Given the description of an element on the screen output the (x, y) to click on. 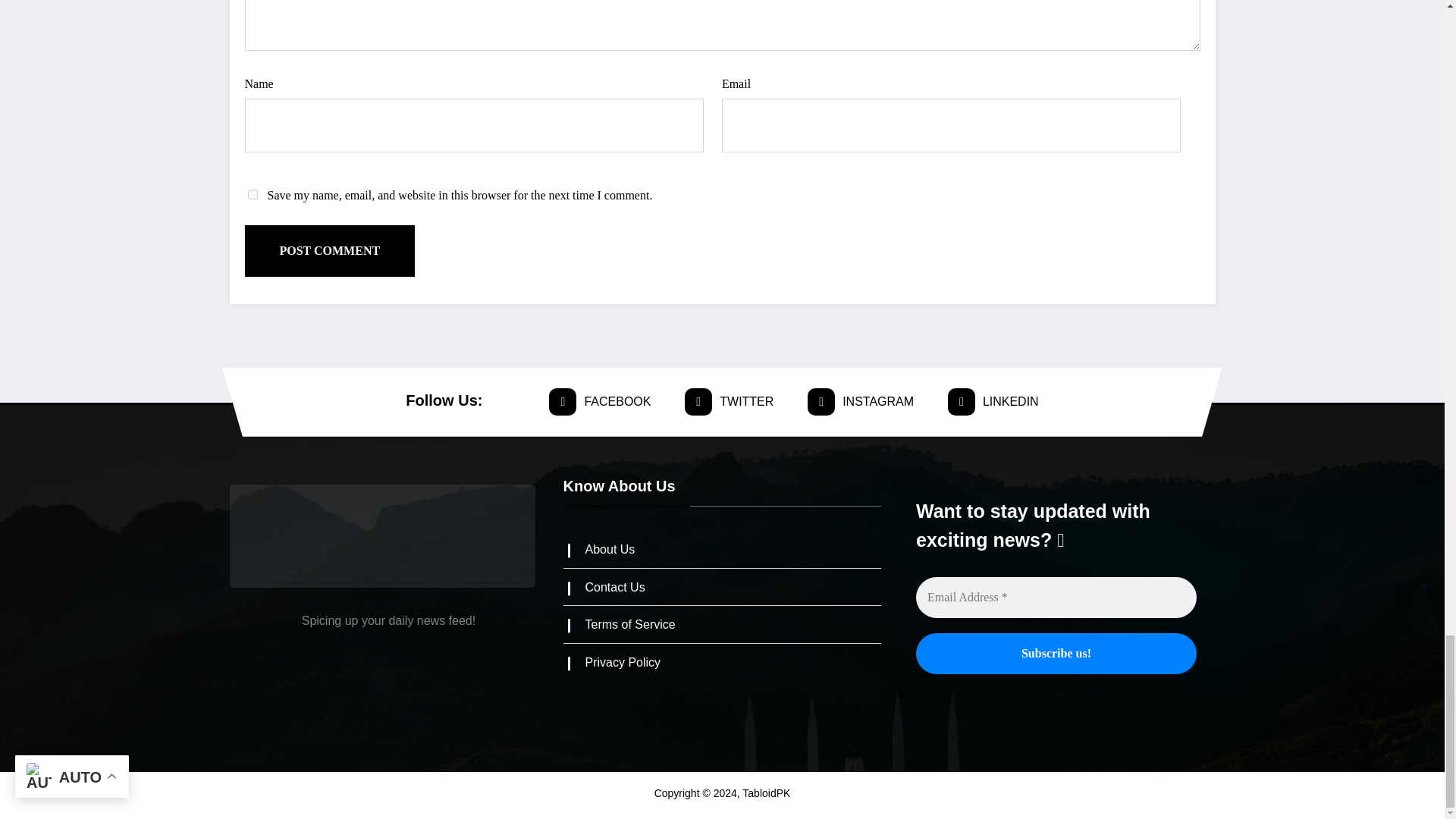
Subscribe us! (1055, 653)
yes (252, 194)
Post Comment (329, 250)
